Given the description of an element on the screen output the (x, y) to click on. 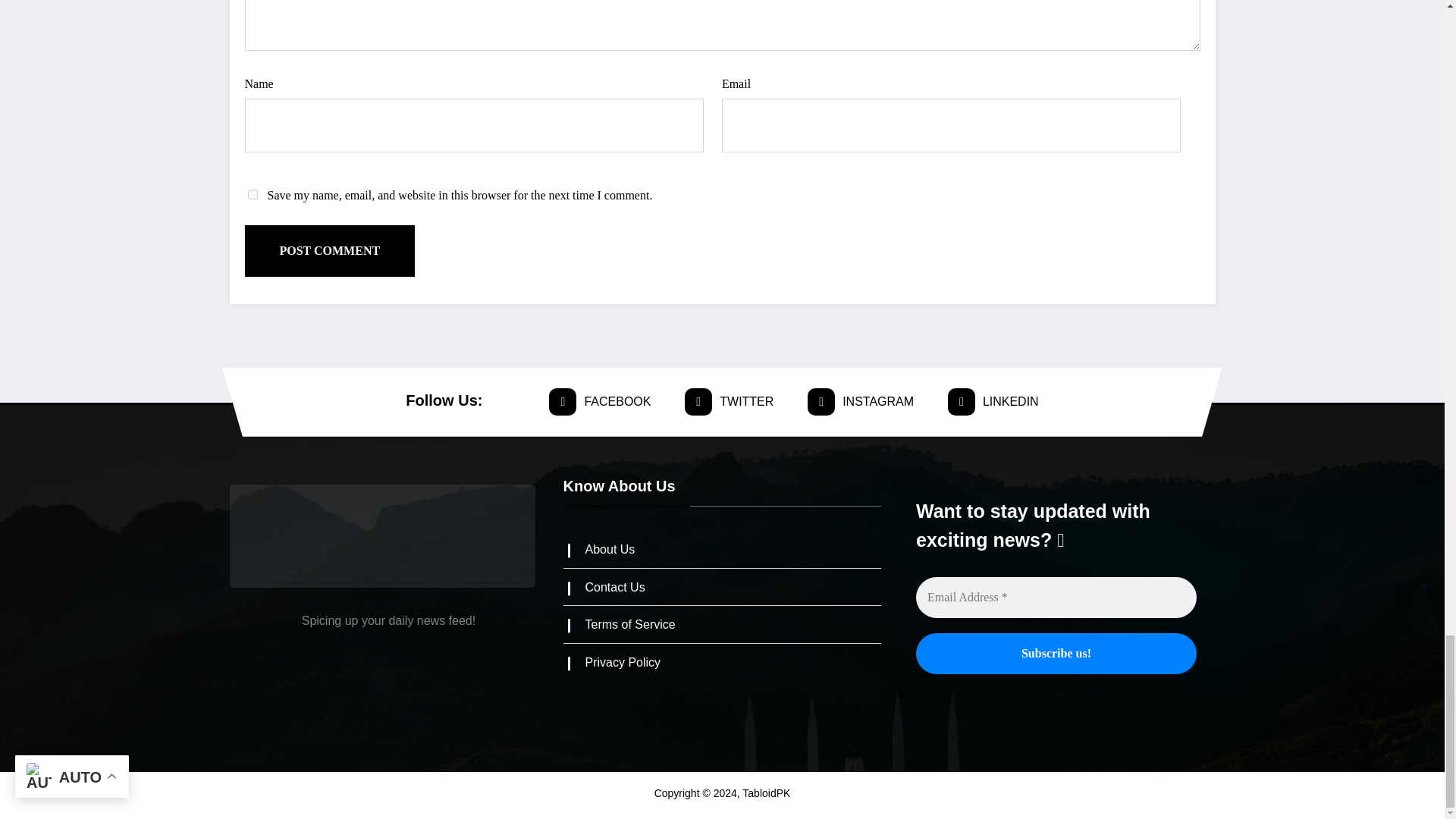
Subscribe us! (1055, 653)
yes (252, 194)
Post Comment (329, 250)
